Given the description of an element on the screen output the (x, y) to click on. 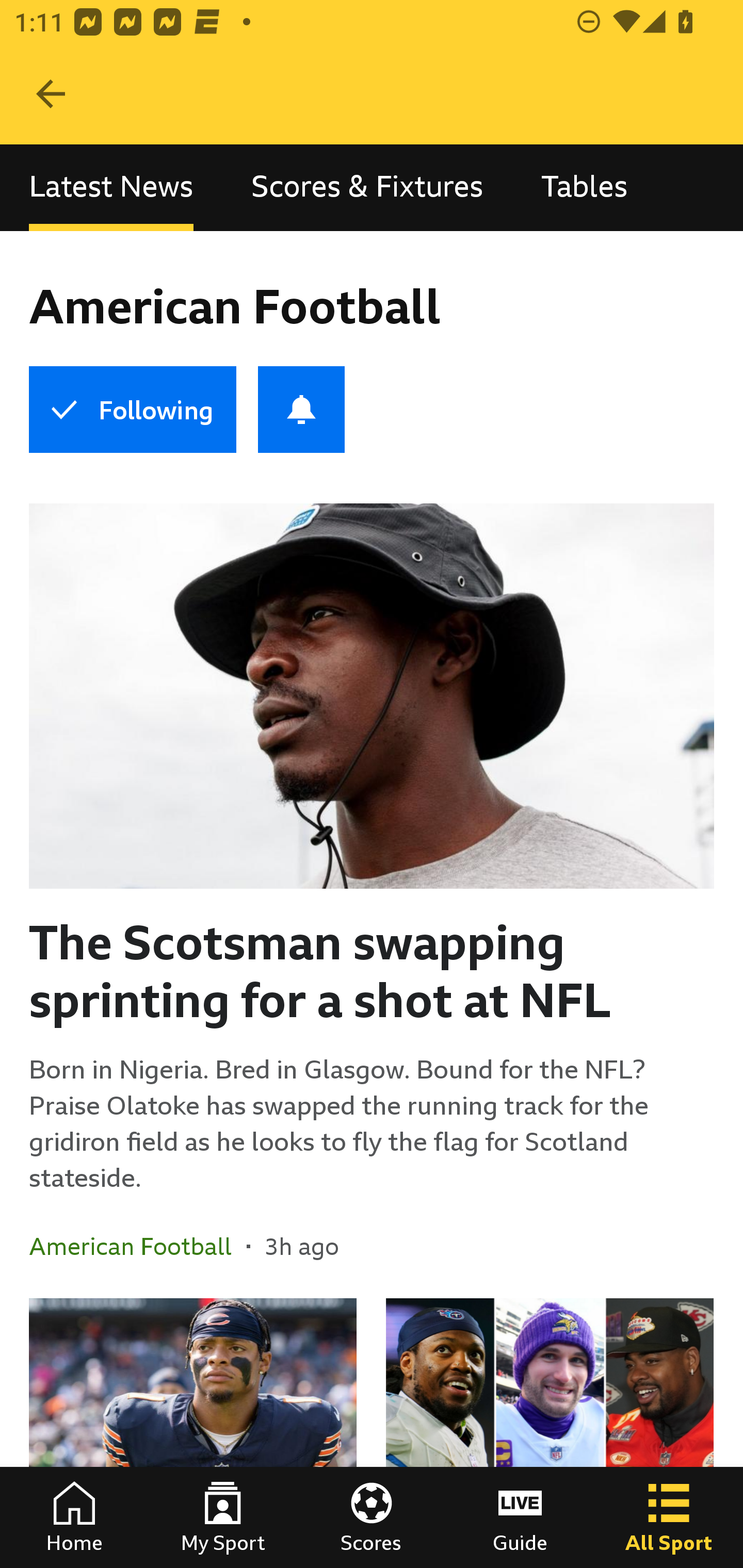
Navigate up (50, 93)
Latest News, selected Latest News (111, 187)
Scores & Fixtures (367, 187)
Tables (584, 187)
Following American Football Following (132, 409)
Push notifications for American Football (300, 409)
What were the big deals of 2024's NFL free agency? (549, 1433)
Home (74, 1517)
My Sport (222, 1517)
Scores (371, 1517)
Guide (519, 1517)
